Given the description of an element on the screen output the (x, y) to click on. 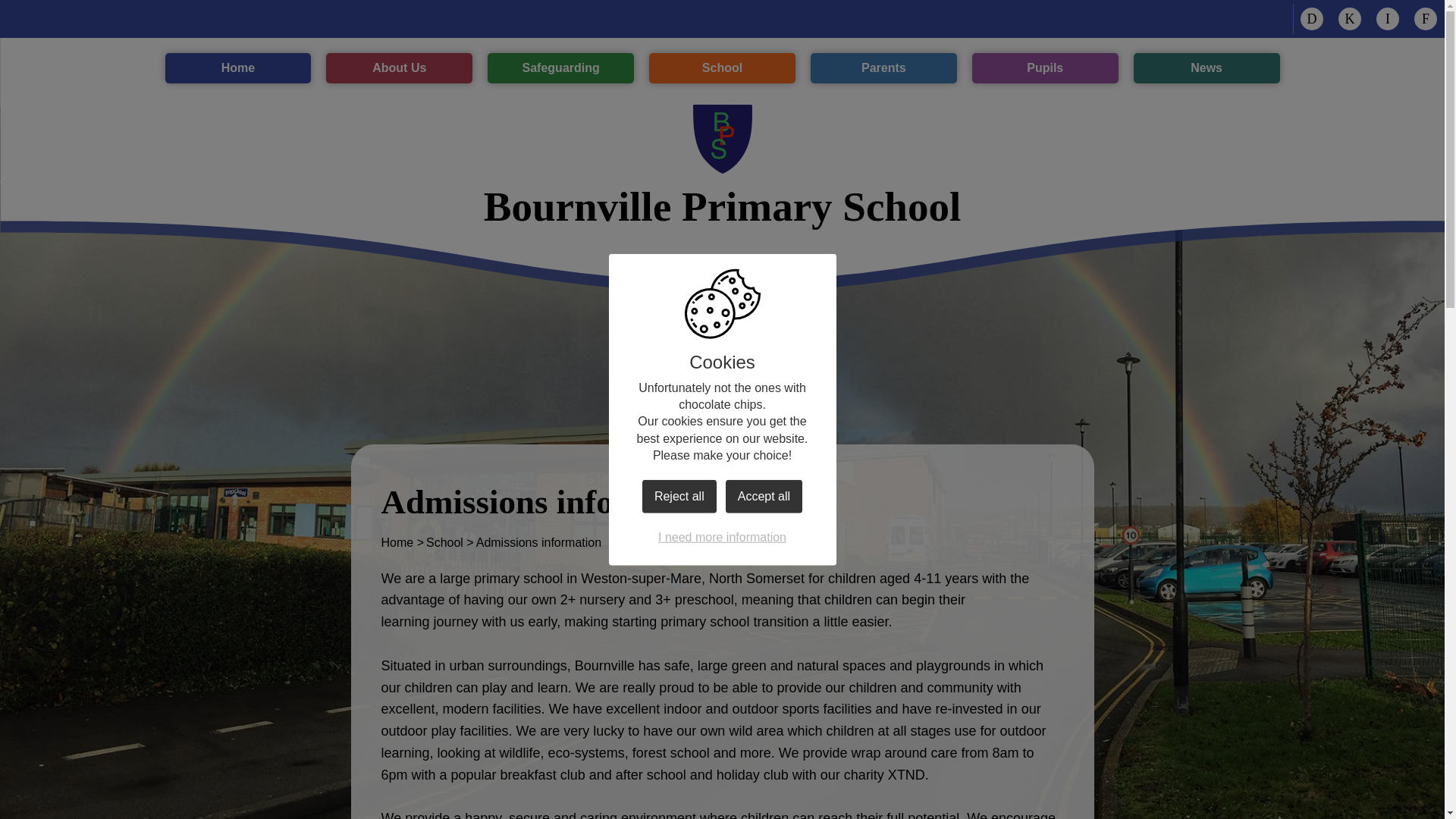
Home (1311, 18)
Log in (238, 68)
School (1425, 18)
Safeguarding (721, 68)
About Us (560, 68)
